Given the description of an element on the screen output the (x, y) to click on. 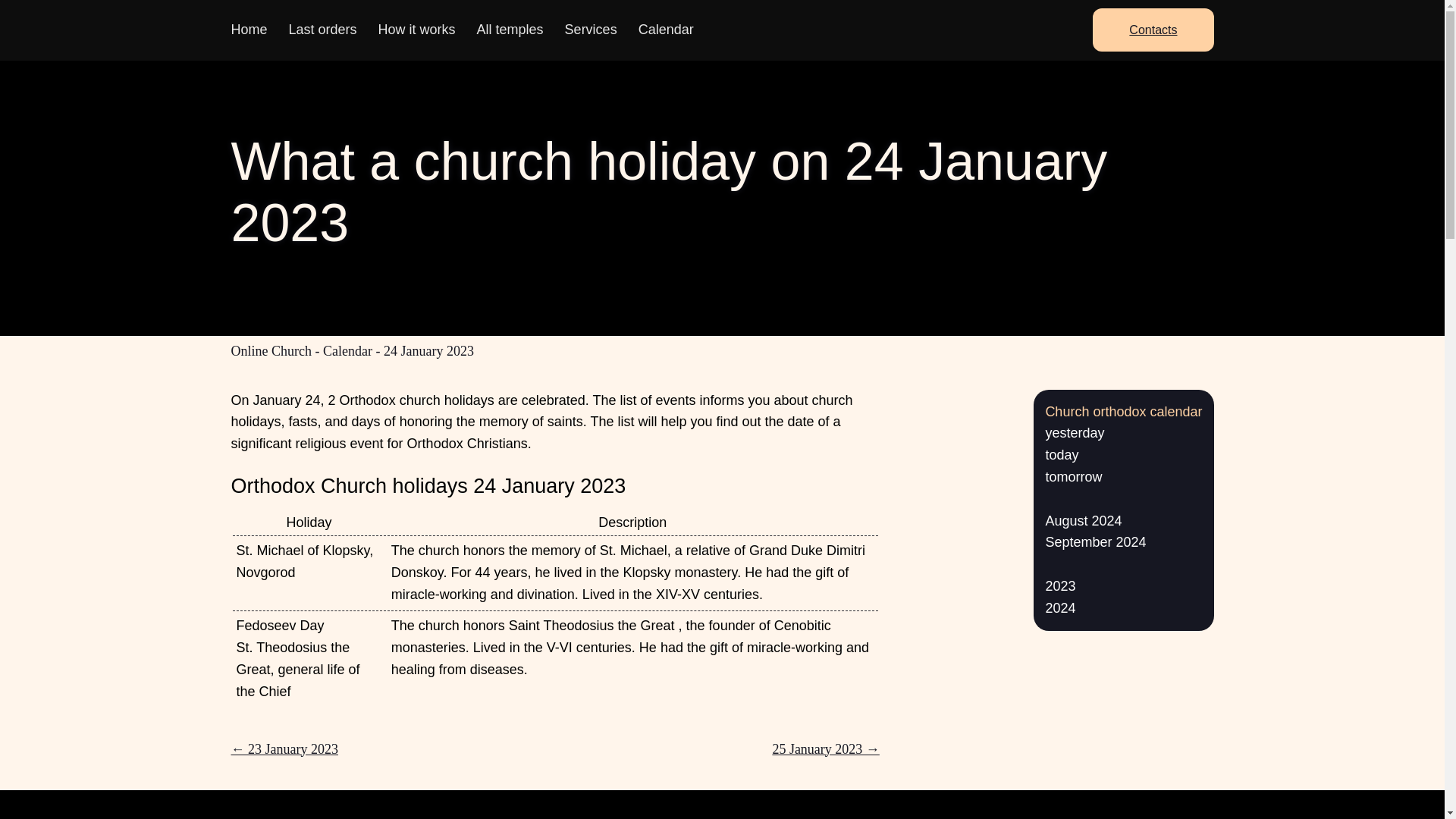
yesterday (1074, 432)
Go to Calendar. (347, 350)
All temples (510, 29)
2023 (1060, 585)
August 2024 (1083, 520)
How it works (416, 29)
Calendar (347, 350)
Online Church (270, 350)
Contacts (1152, 29)
September 2024 (1095, 541)
